Given the description of an element on the screen output the (x, y) to click on. 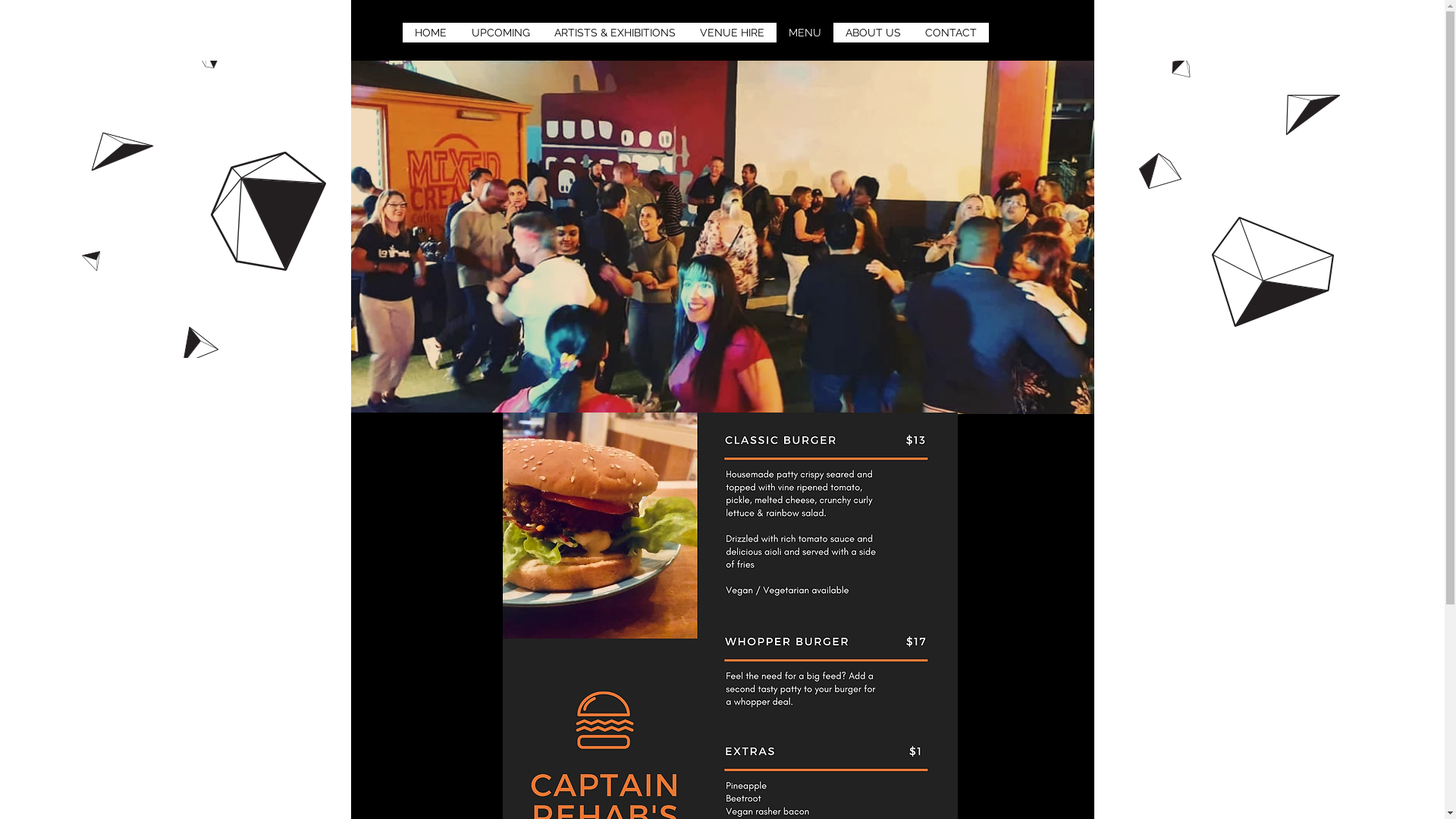
CONTACT Element type: text (950, 32)
UPCOMING Element type: text (500, 32)
ABOUT US Element type: text (872, 32)
ARTISTS & EXHIBITIONS Element type: text (614, 32)
HOME Element type: text (429, 32)
VENUE HIRE Element type: text (731, 32)
MENU Element type: text (804, 32)
